Given the description of an element on the screen output the (x, y) to click on. 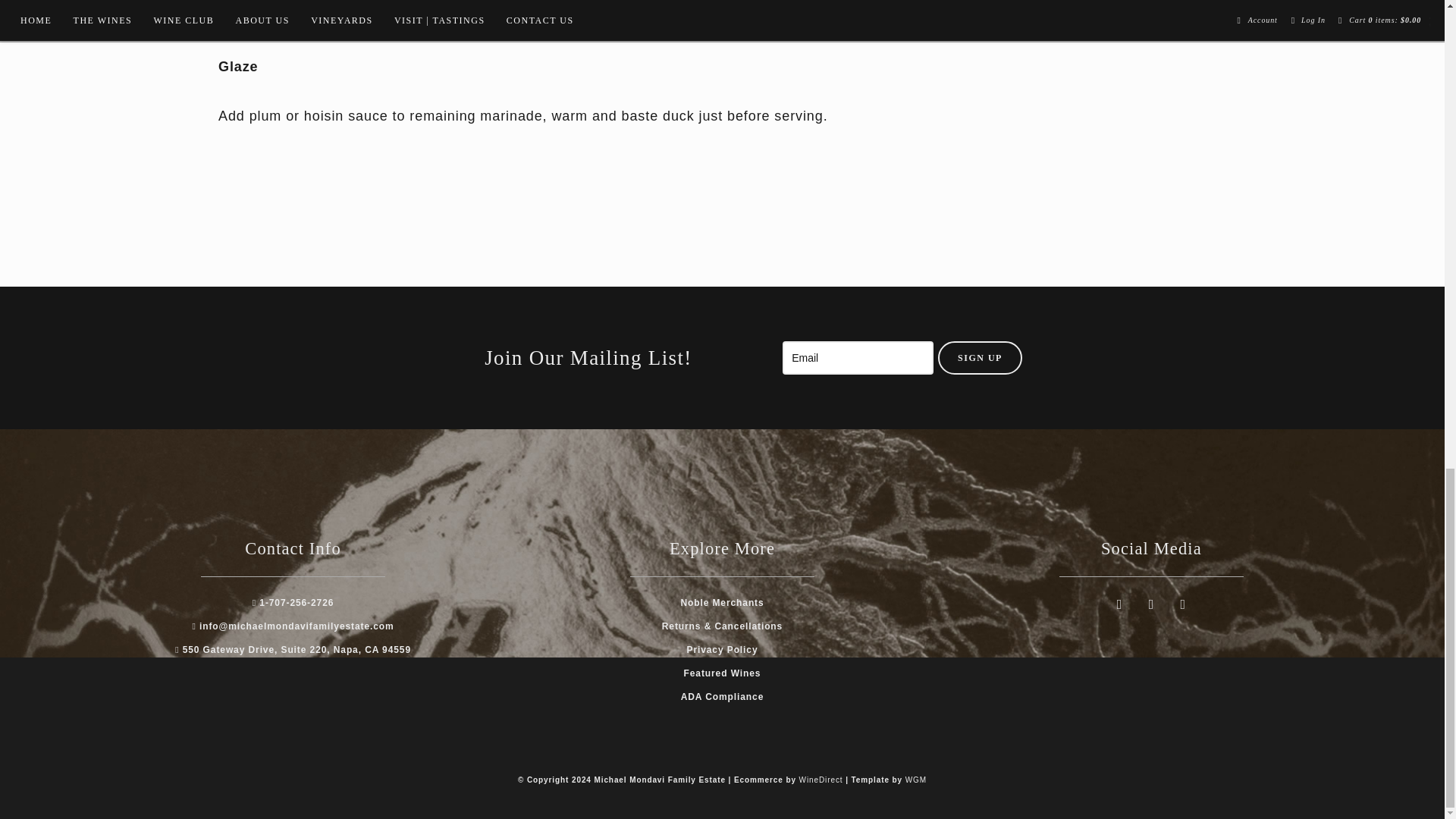
Noble Merchants (720, 602)
 1-707-256-2726 (292, 602)
 550 Gateway Drive, Suite 220, Napa, CA 94559 (292, 649)
Email (858, 357)
ADA Compliance (722, 696)
Featured Wines (722, 673)
Privacy Policy (721, 649)
SIGN UP (979, 357)
